Given the description of an element on the screen output the (x, y) to click on. 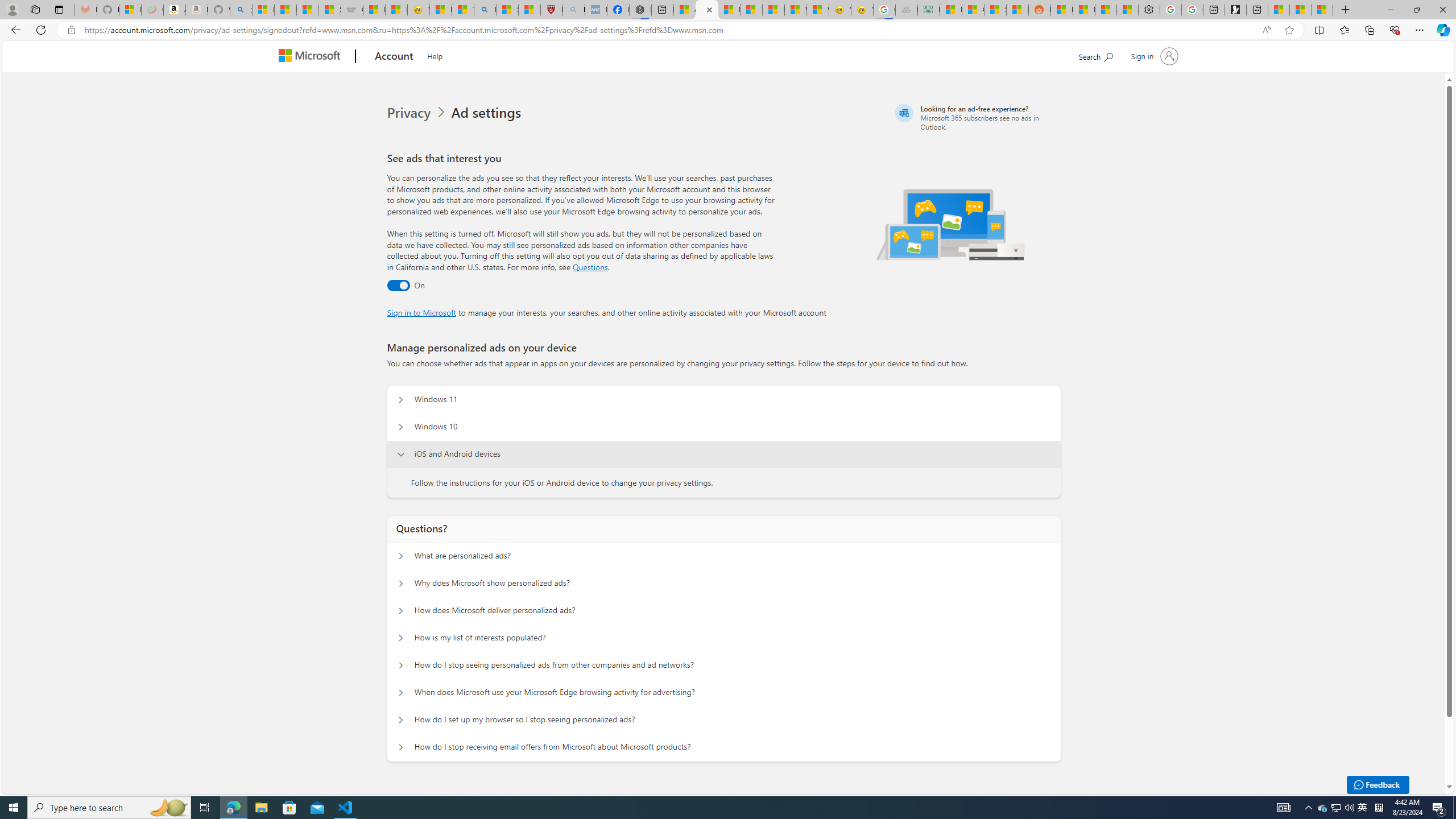
View site information (70, 29)
Close (1442, 9)
Navy Quest (907, 9)
Combat Siege (352, 9)
Nordace - Nordace Siena Is Not An Ordinary Backpack (640, 9)
App bar (728, 29)
Copilot (Ctrl+Shift+.) (1442, 29)
Settings and more (Alt+F) (1419, 29)
Tab actions menu (58, 9)
12 Popular Science Lies that Must be Corrected (529, 9)
